Given the description of an element on the screen output the (x, y) to click on. 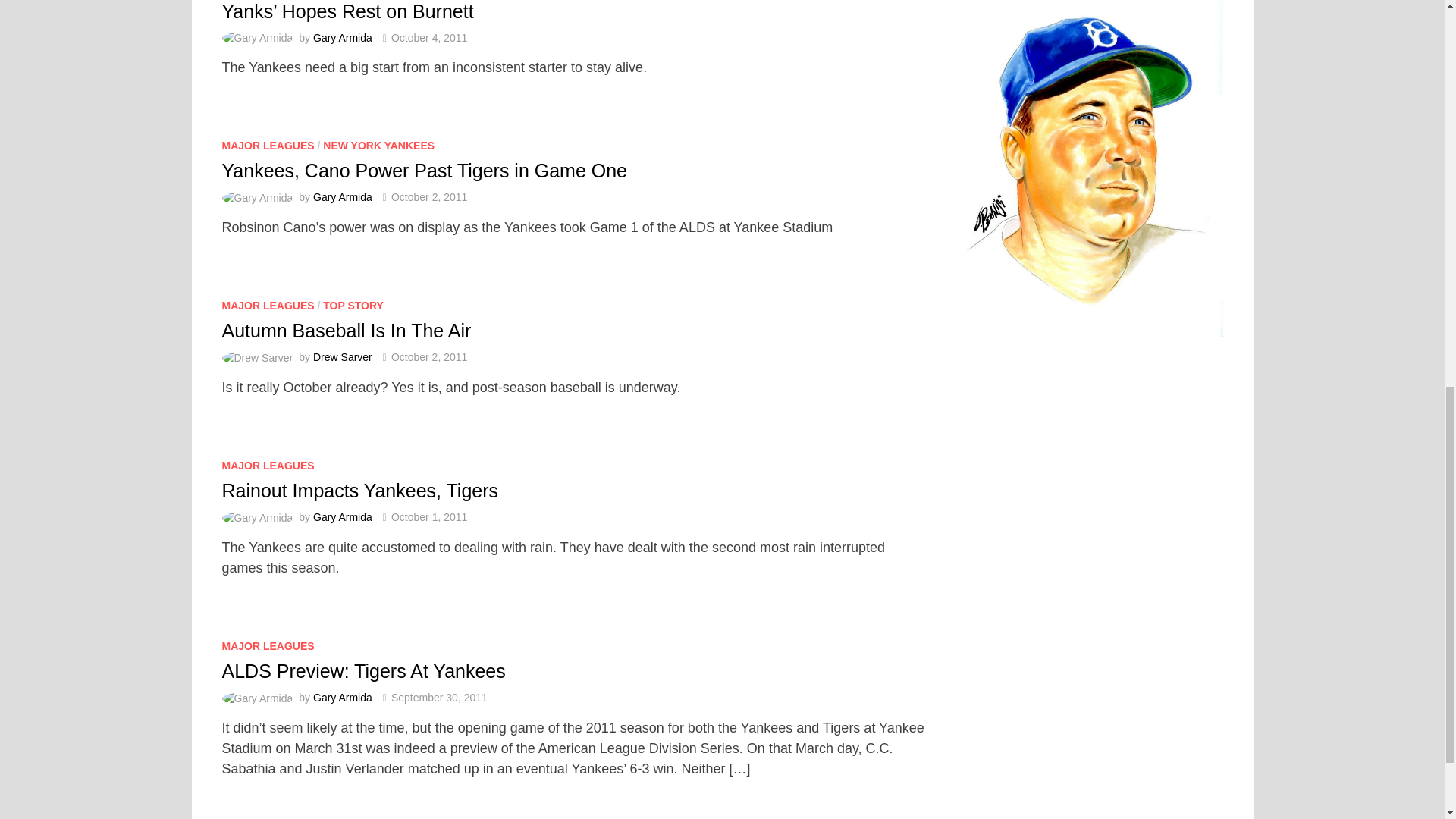
MAJOR LEAGUES (267, 145)
MAJOR LEAGUES (267, 305)
TOP STORY (353, 305)
October 4, 2011 (429, 37)
Yankees, Cano Power Past Tigers in Game One (424, 169)
NEW YORK YANKEES (378, 145)
Gary Armida (342, 196)
Gary Armida (342, 37)
October 2, 2011 (429, 196)
